Given the description of an element on the screen output the (x, y) to click on. 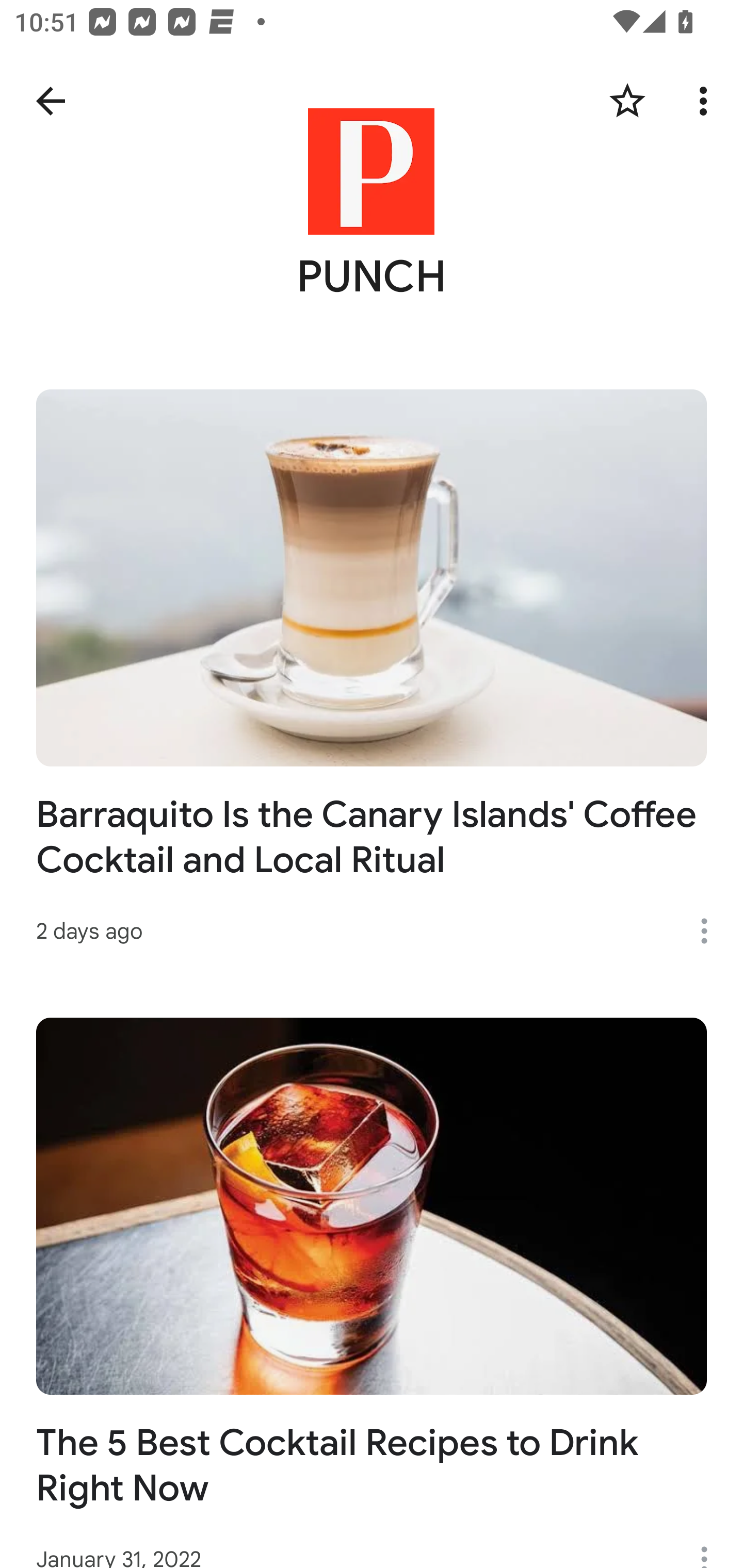
Navigate up (50, 101)
Follow (626, 101)
More options (706, 101)
More options (711, 930)
More options (711, 1547)
